Given the description of an element on the screen output the (x, y) to click on. 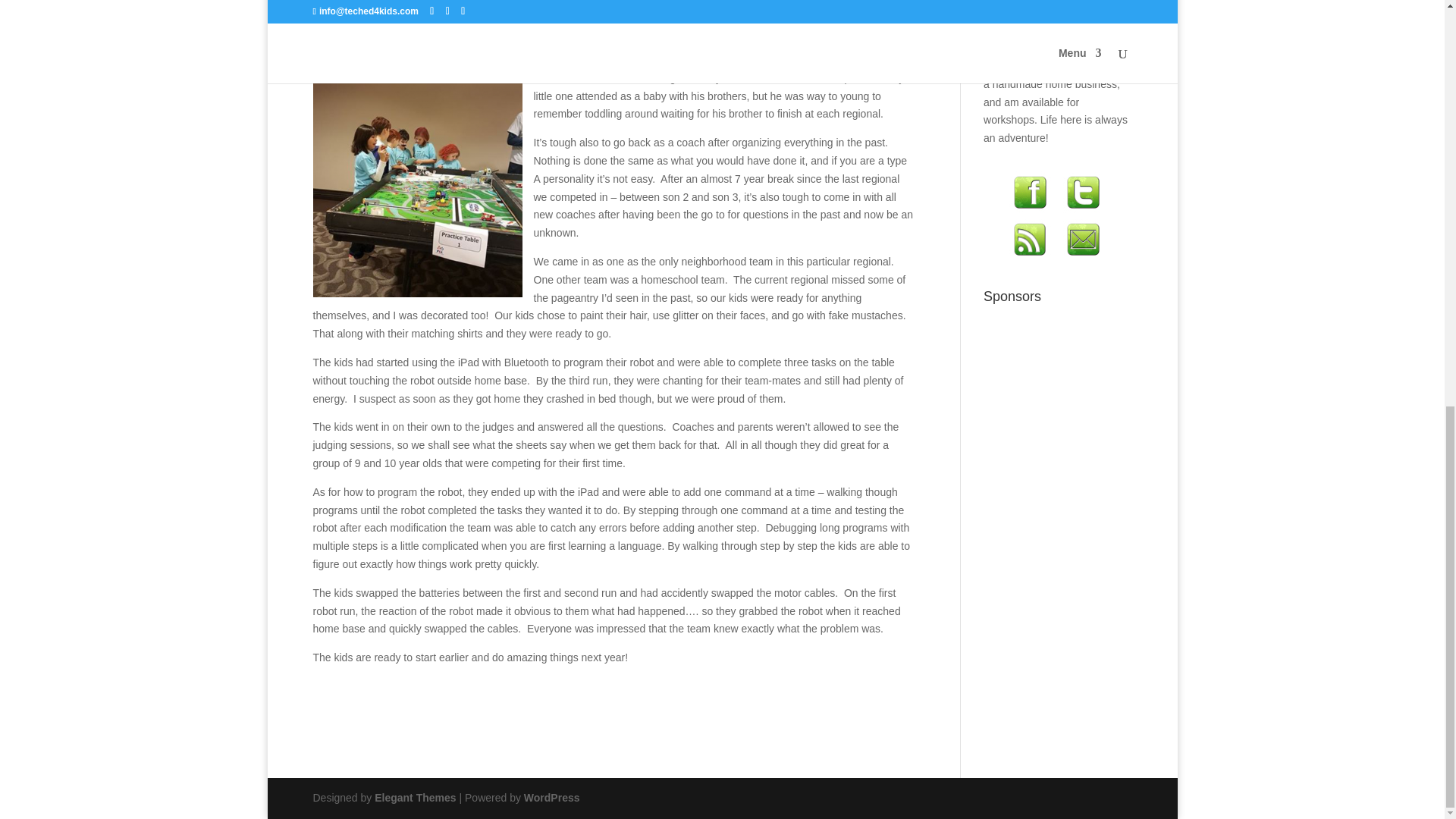
Premium WordPress Themes (414, 797)
